Given the description of an element on the screen output the (x, y) to click on. 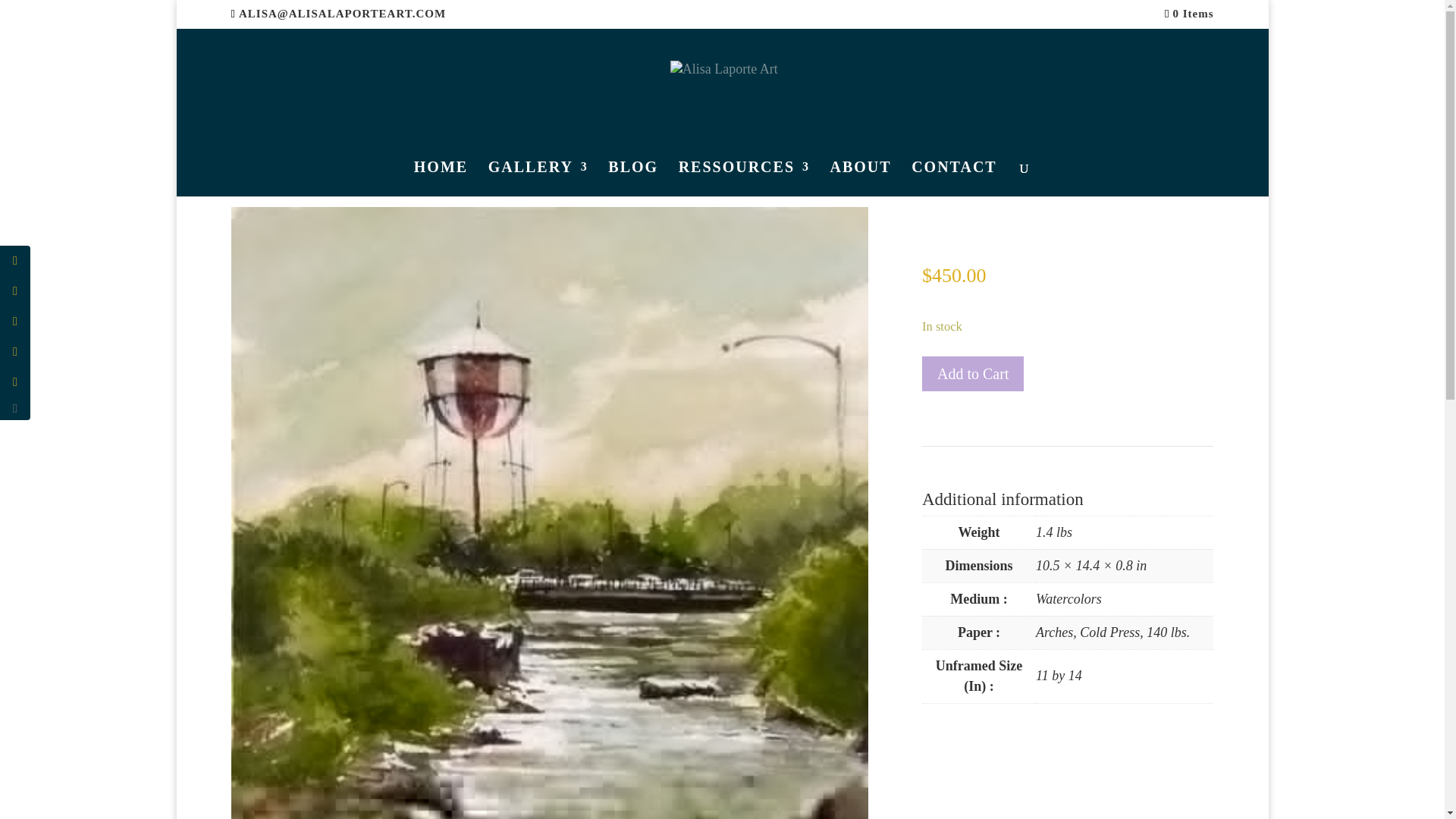
ABOUT (860, 178)
0 Items (1189, 13)
RESSOURCES (743, 178)
GALLERY (537, 178)
Add to Cart (972, 373)
HOME (440, 178)
BLOG (633, 178)
CONTACT (954, 178)
